Given the description of an element on the screen output the (x, y) to click on. 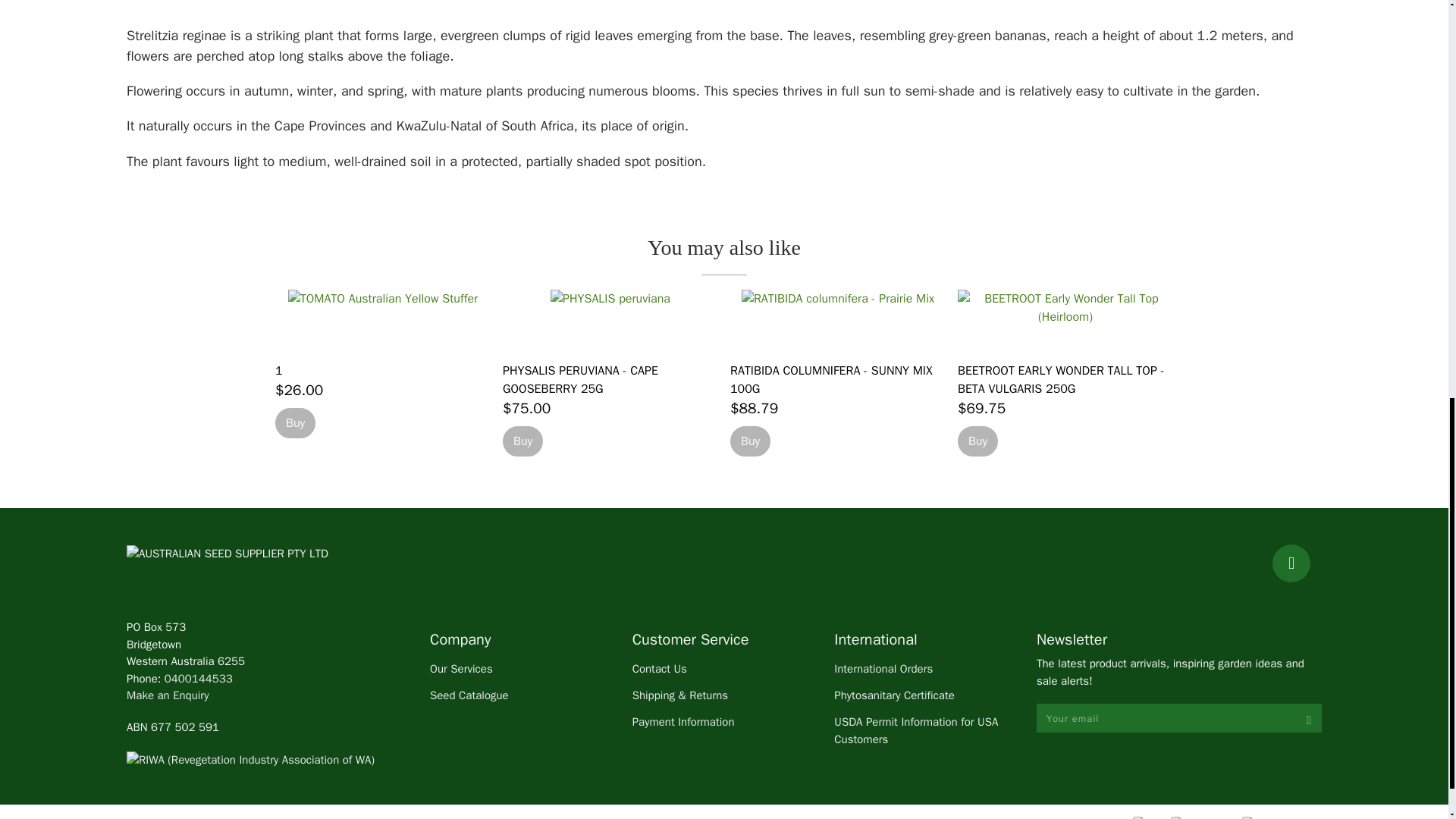
PHYSALIS peruviana - Cape Gooseberry 25g (609, 319)
facebook (1291, 563)
RATIBIDA columnifera - Sunny Mix 100g (831, 379)
PHYSALIS peruviana - Cape Gooseberry 25g (580, 379)
TOMATO Yellow Stuffer Heirloom - Lycopersicon esculentum 5g (382, 319)
BEETROOT Early Wonder Tall Top - Beta vulgaris 250g (1065, 319)
RATIBIDA columnifera - Sunny Mix 100g (837, 319)
BEETROOT Early Wonder Tall Top - Beta vulgaris 250g (1060, 379)
